Given the description of an element on the screen output the (x, y) to click on. 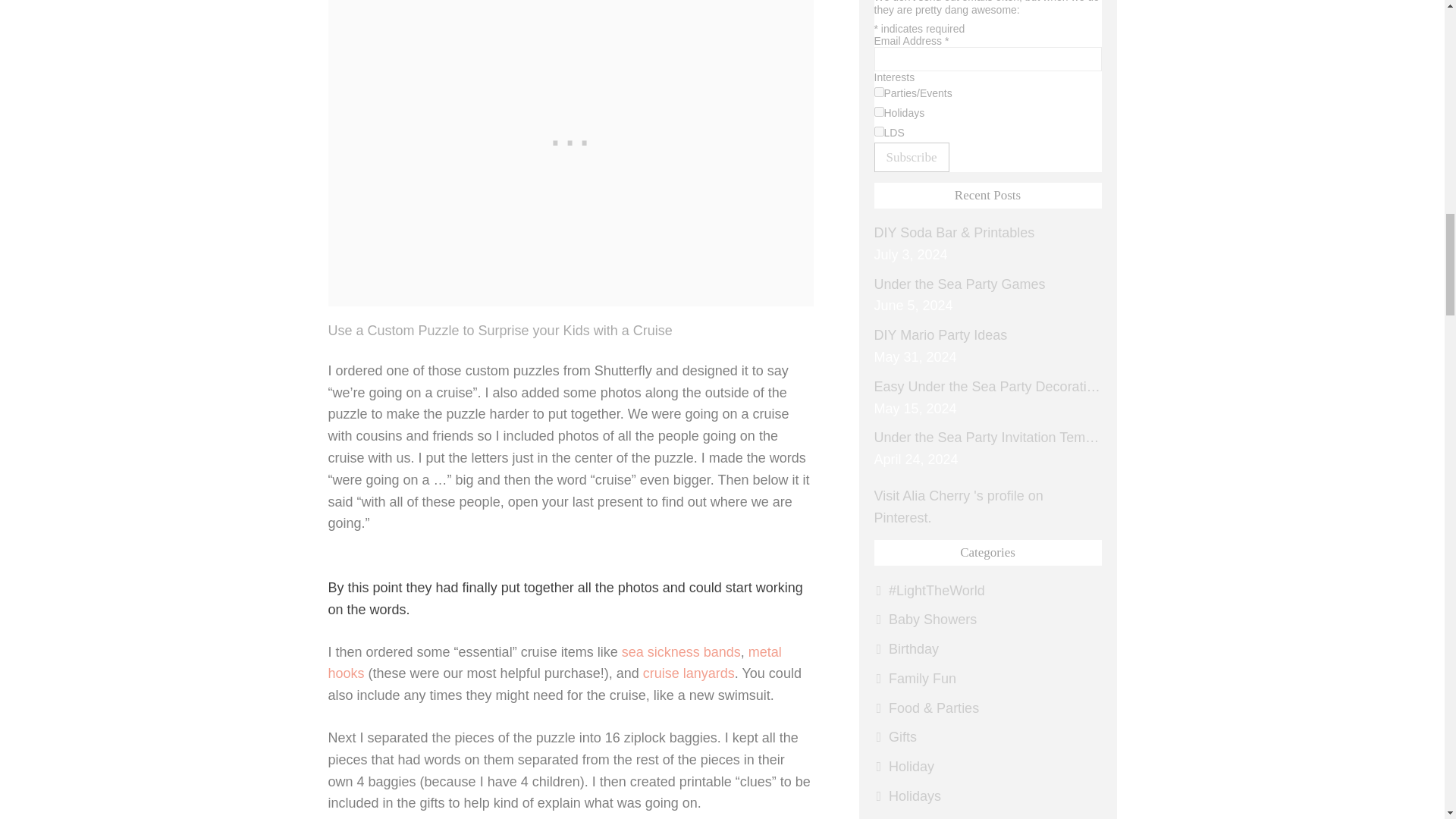
Subscribe (911, 156)
sea sickness bands (681, 652)
cruise lanyards (689, 672)
1 (878, 91)
2 (878, 112)
metal hooks (553, 662)
4 (878, 131)
